Given the description of an element on the screen output the (x, y) to click on. 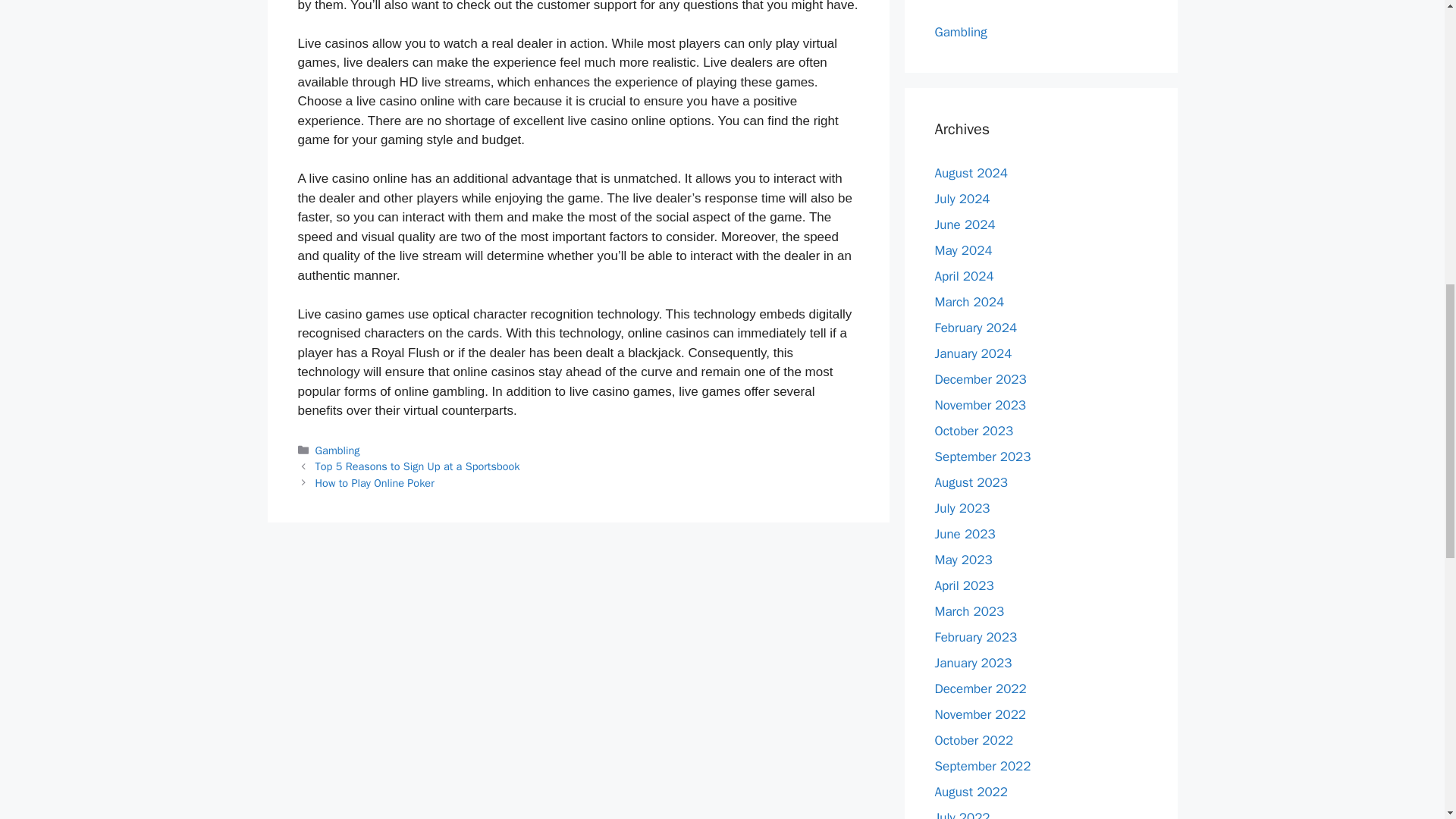
Gambling (337, 450)
December 2023 (980, 379)
May 2024 (962, 250)
May 2023 (962, 560)
January 2023 (972, 662)
June 2024 (964, 224)
September 2023 (982, 456)
November 2023 (980, 405)
August 2023 (970, 482)
March 2023 (969, 611)
